Given the description of an element on the screen output the (x, y) to click on. 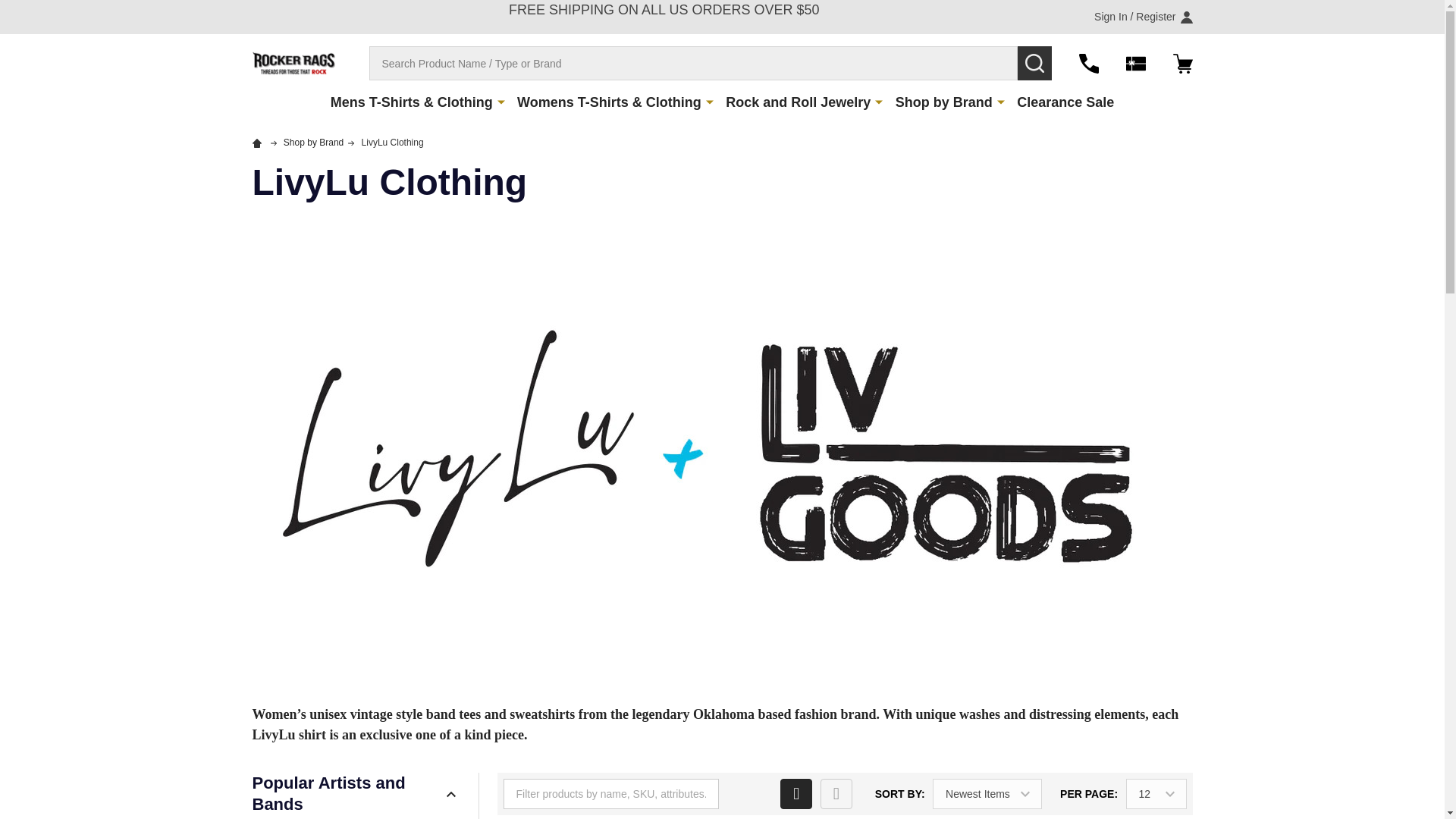
Rock and Roll Jewelry (794, 102)
Shop by Brand (940, 102)
Call Us: 323-782-8322 (1087, 62)
Cart (1182, 62)
Rocker Rags (292, 63)
Gift Certificates (1134, 62)
SEARCH (1034, 62)
